Given the description of an element on the screen output the (x, y) to click on. 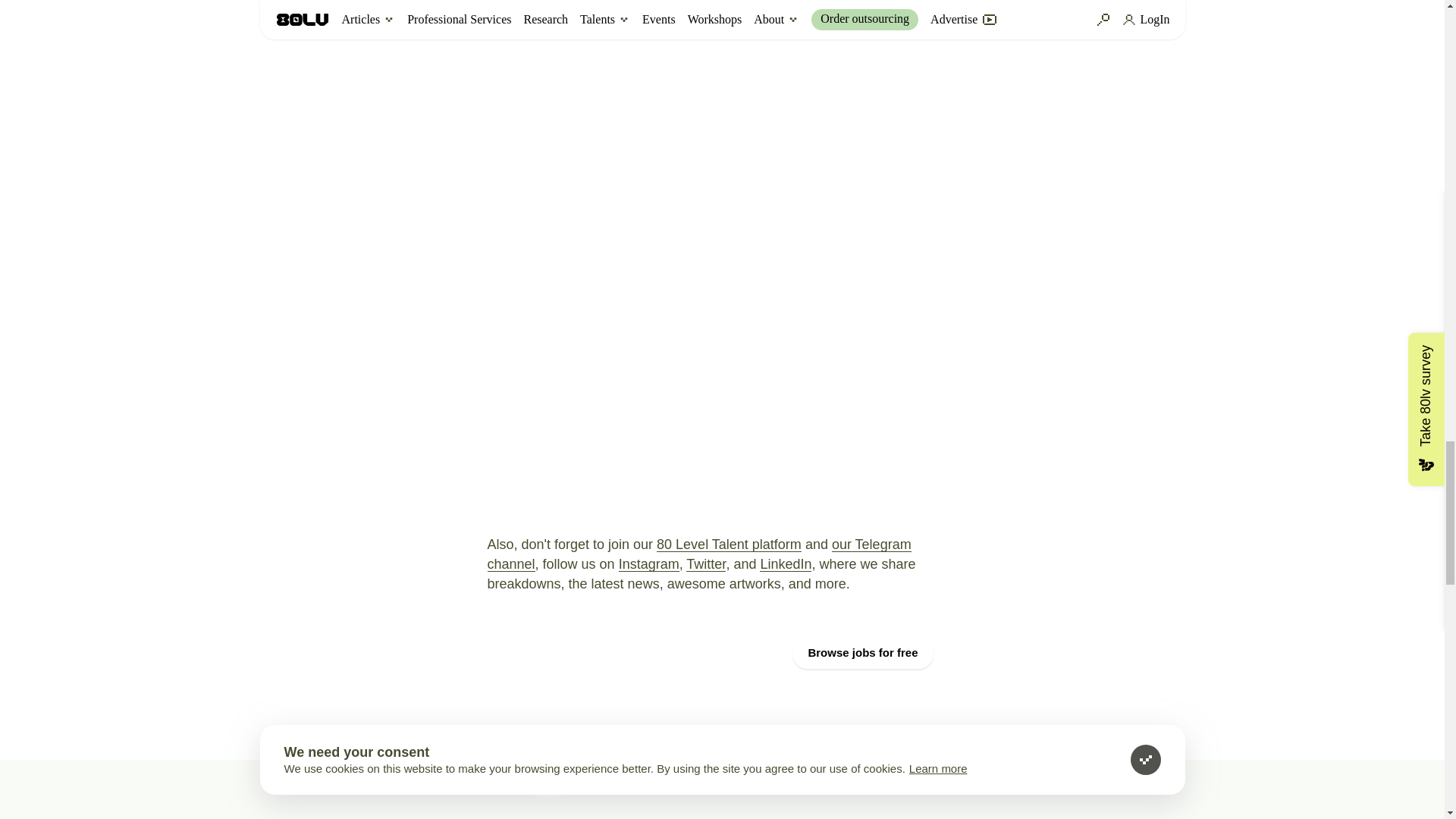
Browse jobs for free (862, 652)
80 Level Talent platform (729, 544)
Instagram (648, 563)
our Telegram channel (698, 554)
LinkedIn (785, 563)
Twitter (705, 563)
